Given the description of an element on the screen output the (x, y) to click on. 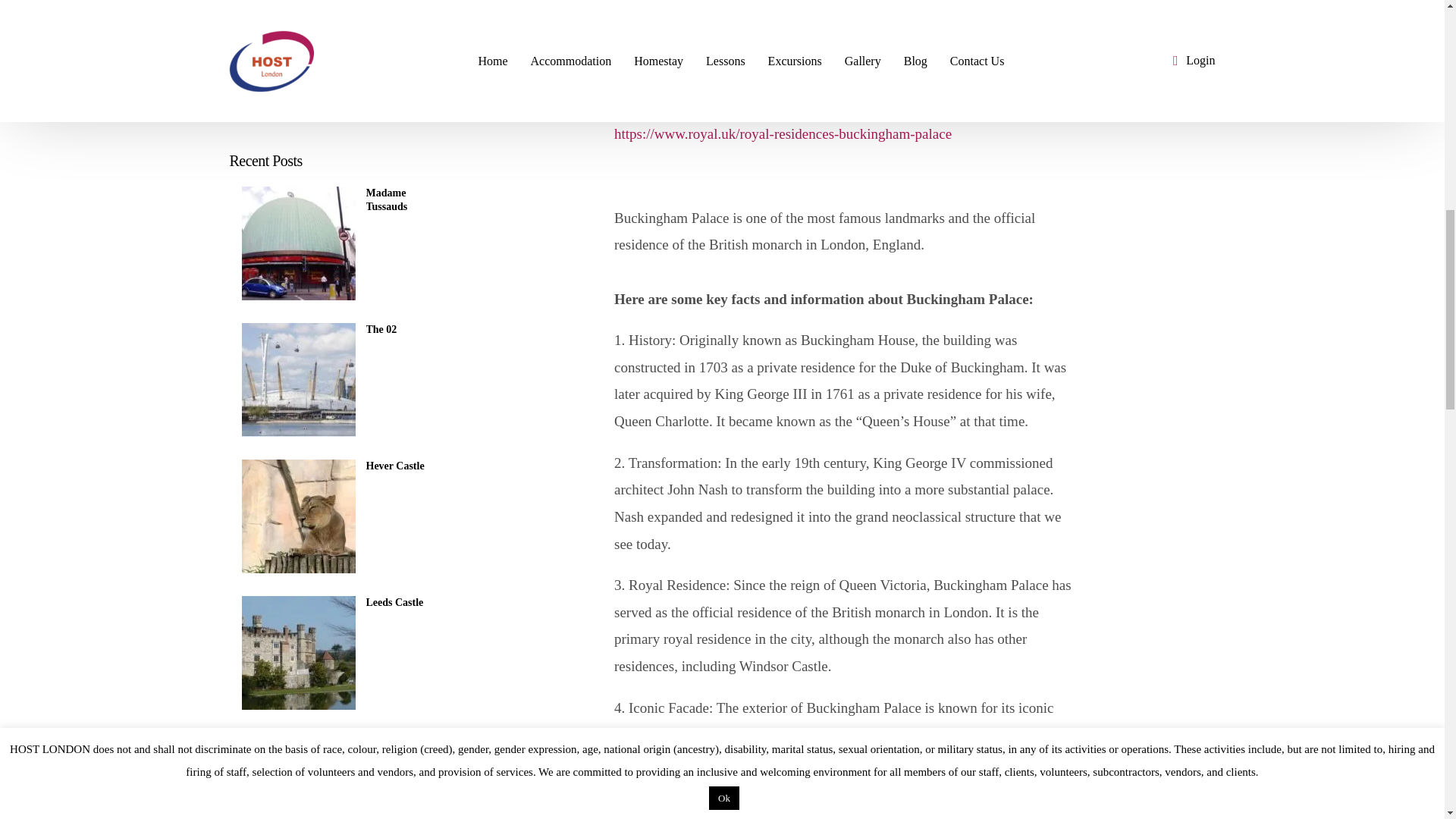
Shakespeares Globe (401, 300)
Leeds Castle (401, 157)
Hever Castle (401, 20)
